Given the description of an element on the screen output the (x, y) to click on. 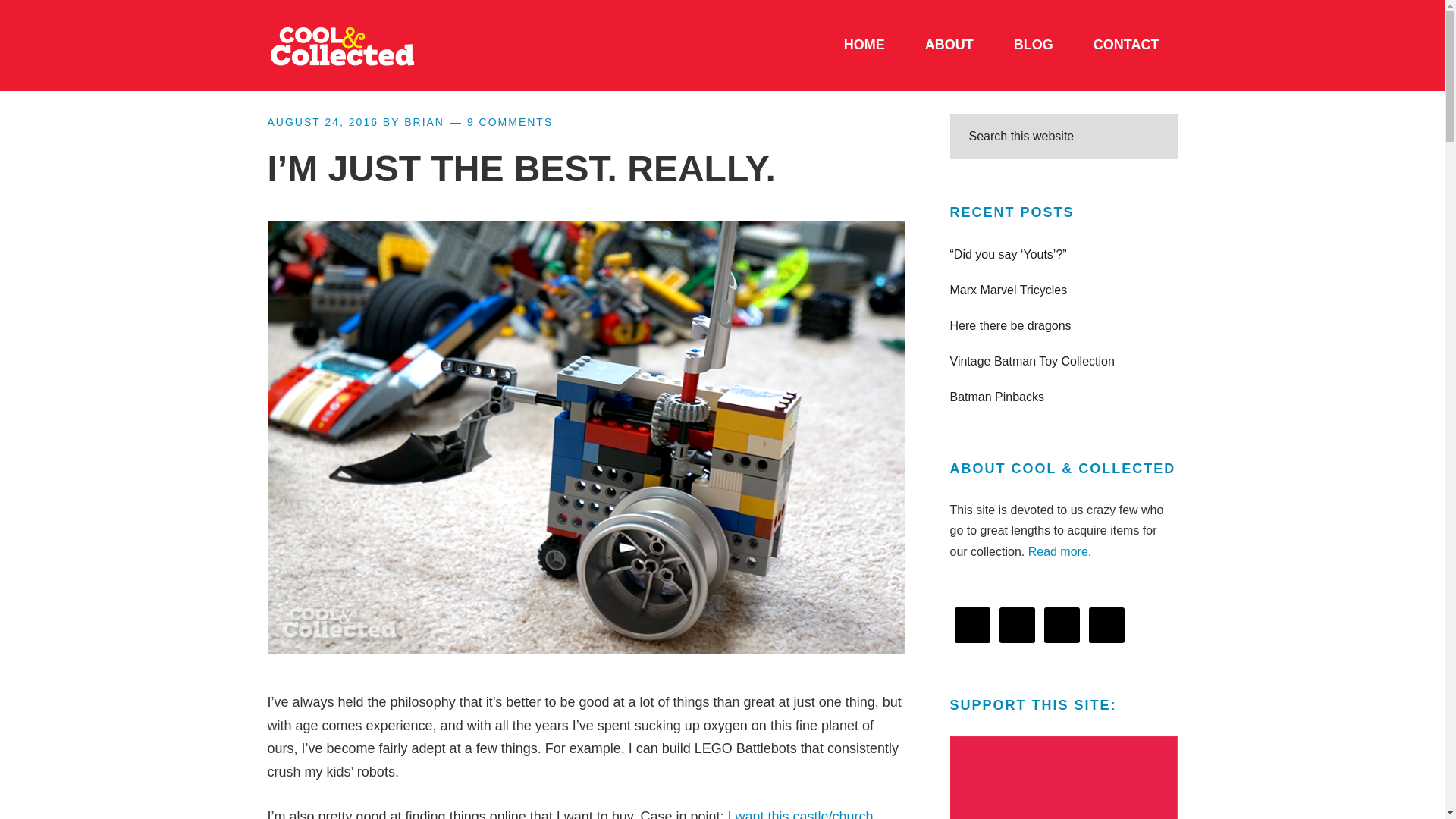
HOME (864, 44)
9 COMMENTS (510, 121)
COOL AND COLLECTED (380, 44)
CONTACT (1125, 44)
ABOUT (949, 44)
BRIAN (424, 121)
